Given the description of an element on the screen output the (x, y) to click on. 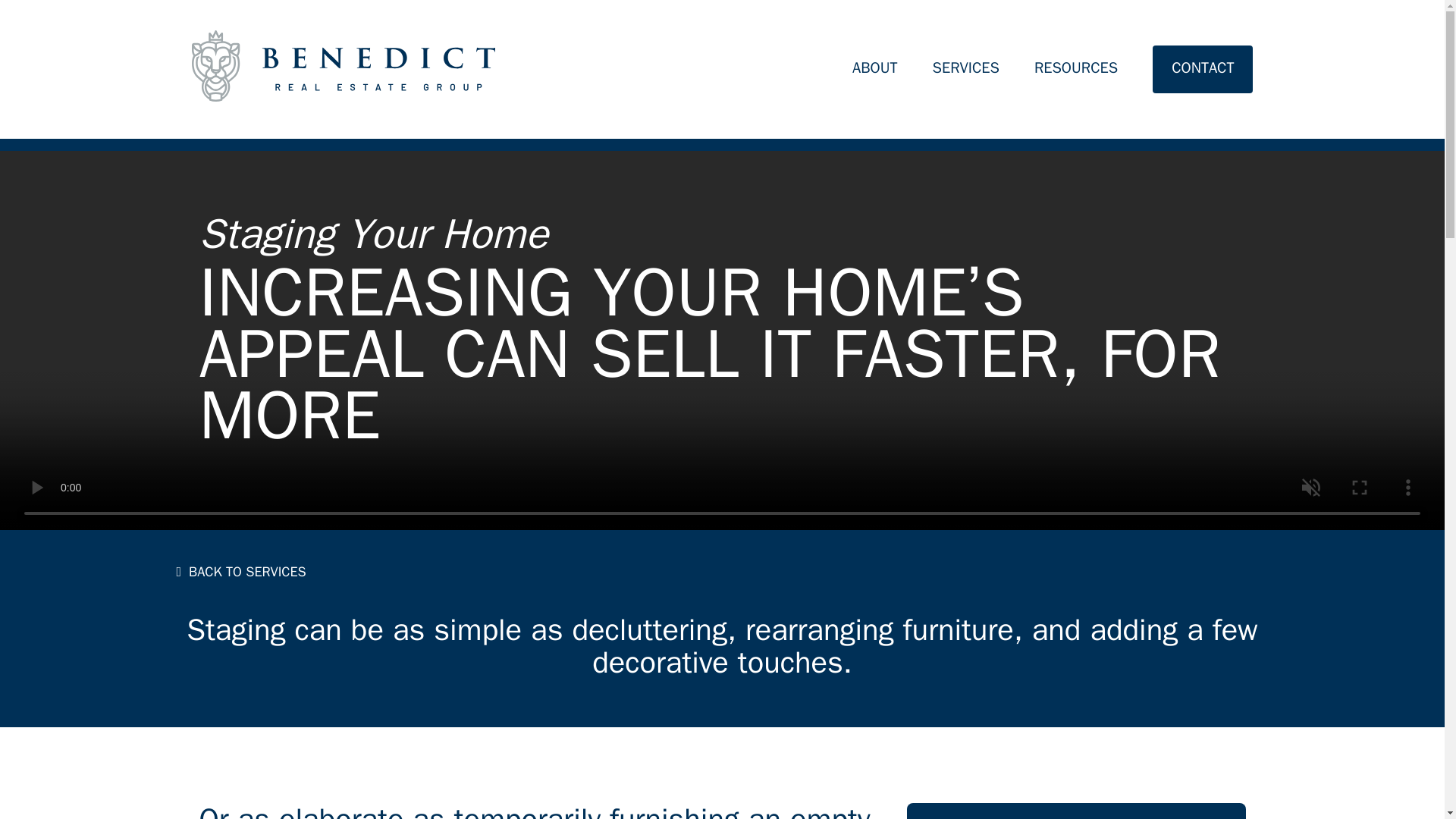
CONTACT (1202, 71)
BACK TO SERVICES (240, 571)
ABOUT (874, 71)
Staging Your Home (372, 234)
SERVICES (965, 71)
RESOURCES (1075, 71)
